Given the description of an element on the screen output the (x, y) to click on. 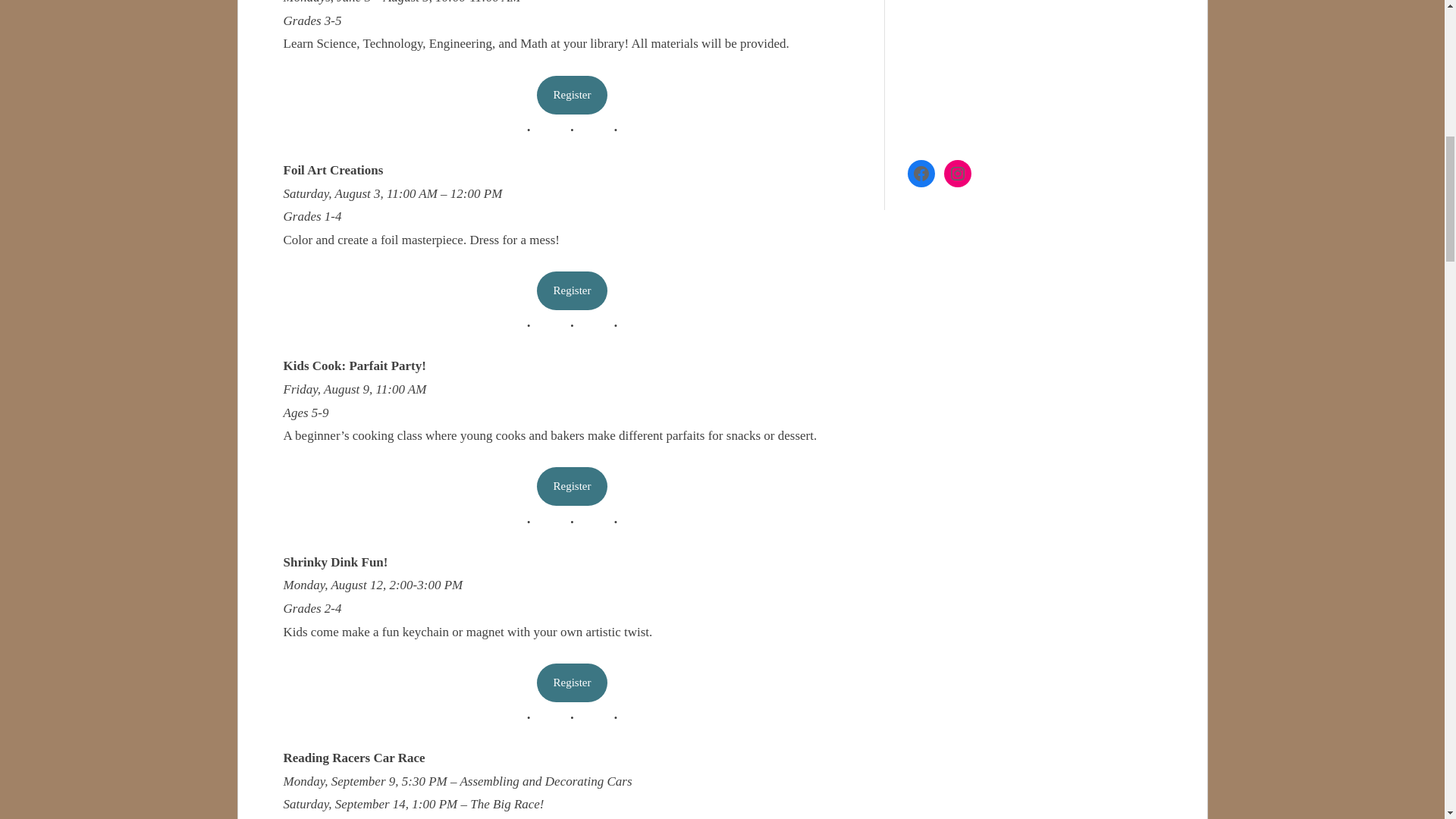
Register (572, 486)
Register (572, 95)
Register (572, 290)
